Given the description of an element on the screen output the (x, y) to click on. 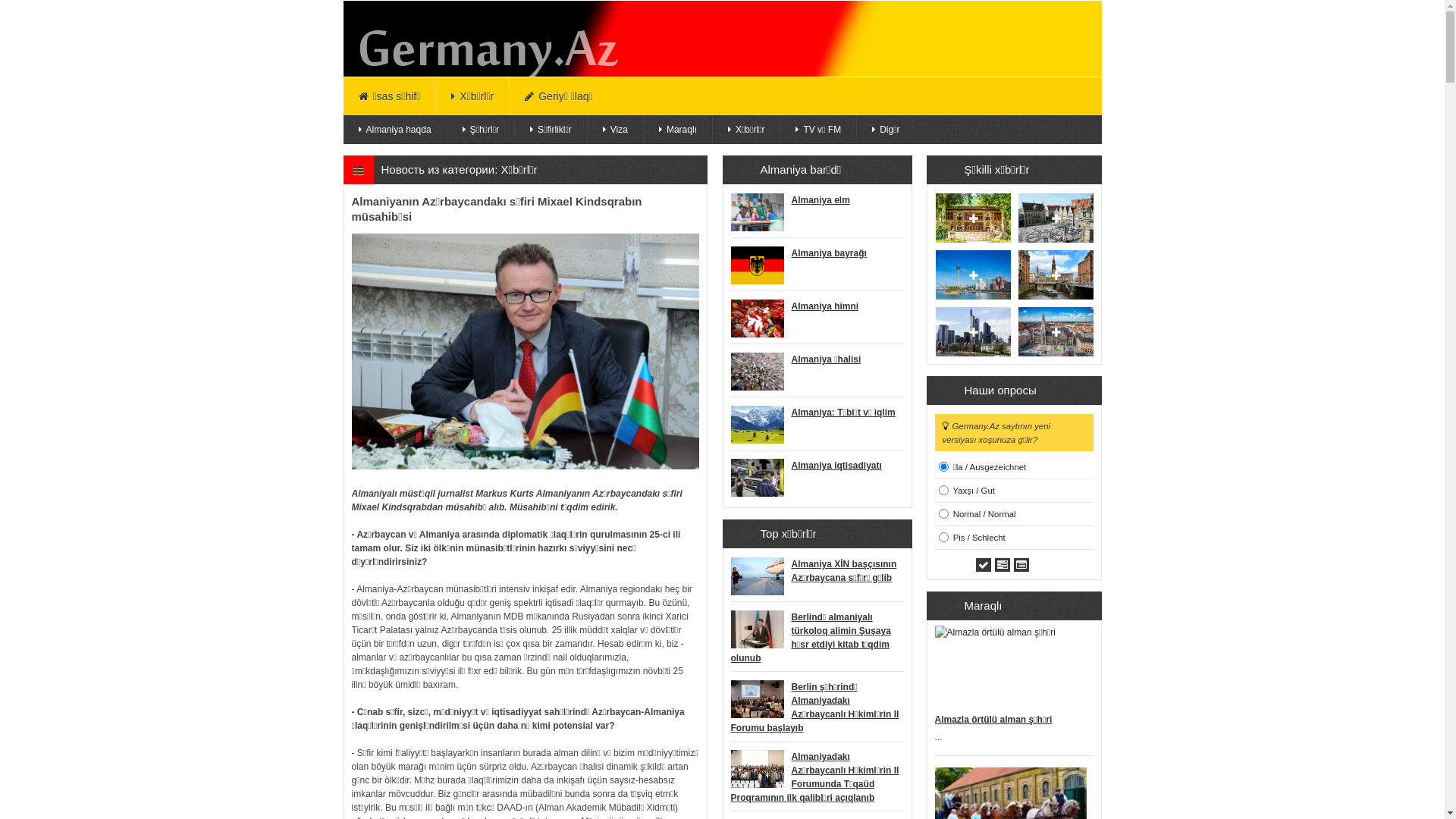
Viza Element type: text (615, 129)
Almaniya himni Element type: text (825, 305)
Almaniya elm Element type: text (820, 199)
Almaniya haqda Element type: text (393, 129)
